Given the description of an element on the screen output the (x, y) to click on. 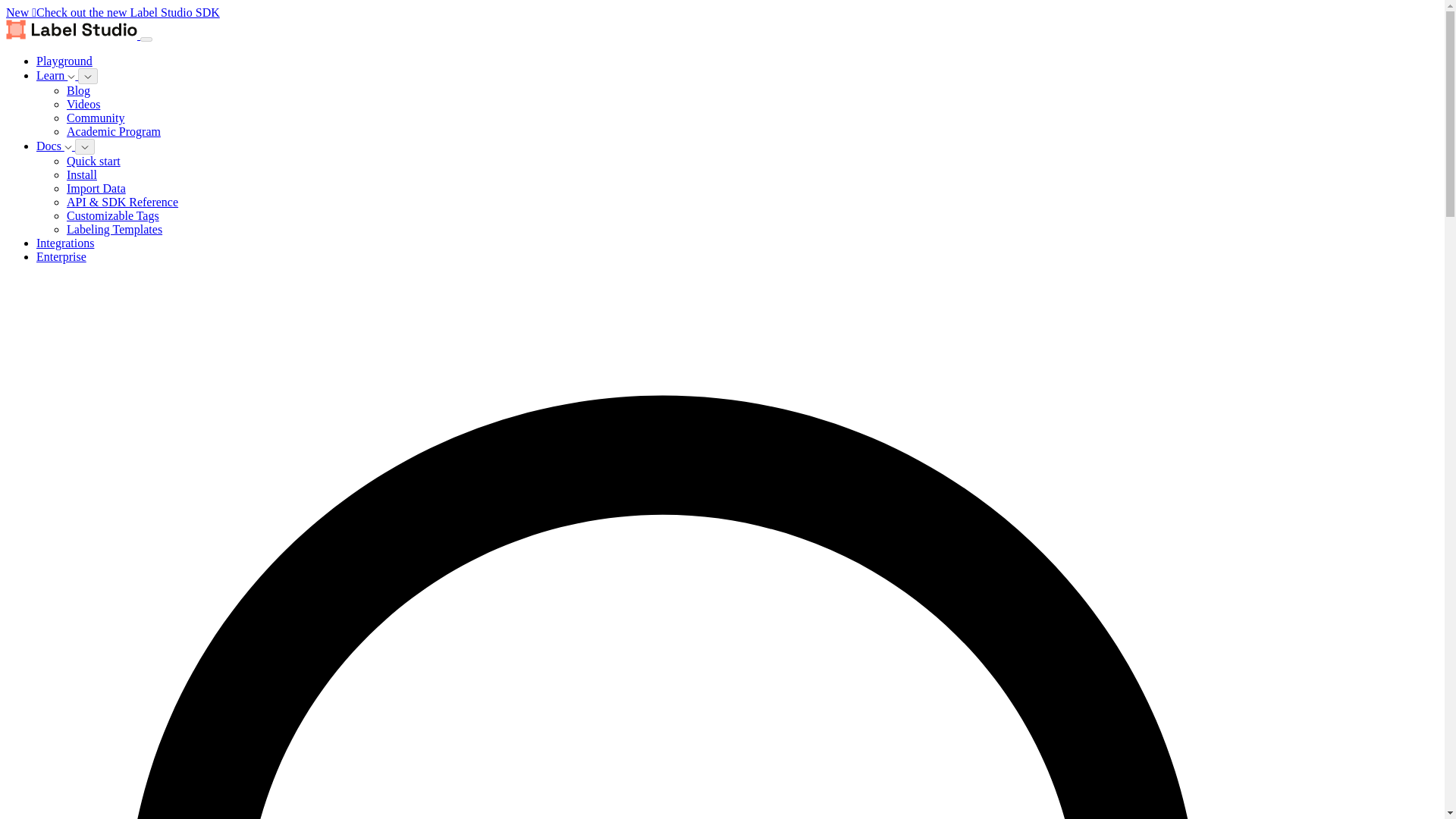
Quick start (93, 160)
Enterprise (60, 256)
Academic Program (113, 131)
Blog (78, 90)
Labeling Templates (113, 228)
Integrations (65, 242)
Import Data (95, 187)
Docs (55, 145)
Install (81, 174)
Learn (57, 74)
Customizable Tags (112, 215)
Playground (64, 60)
Community (94, 117)
Videos (83, 103)
